Given the description of an element on the screen output the (x, y) to click on. 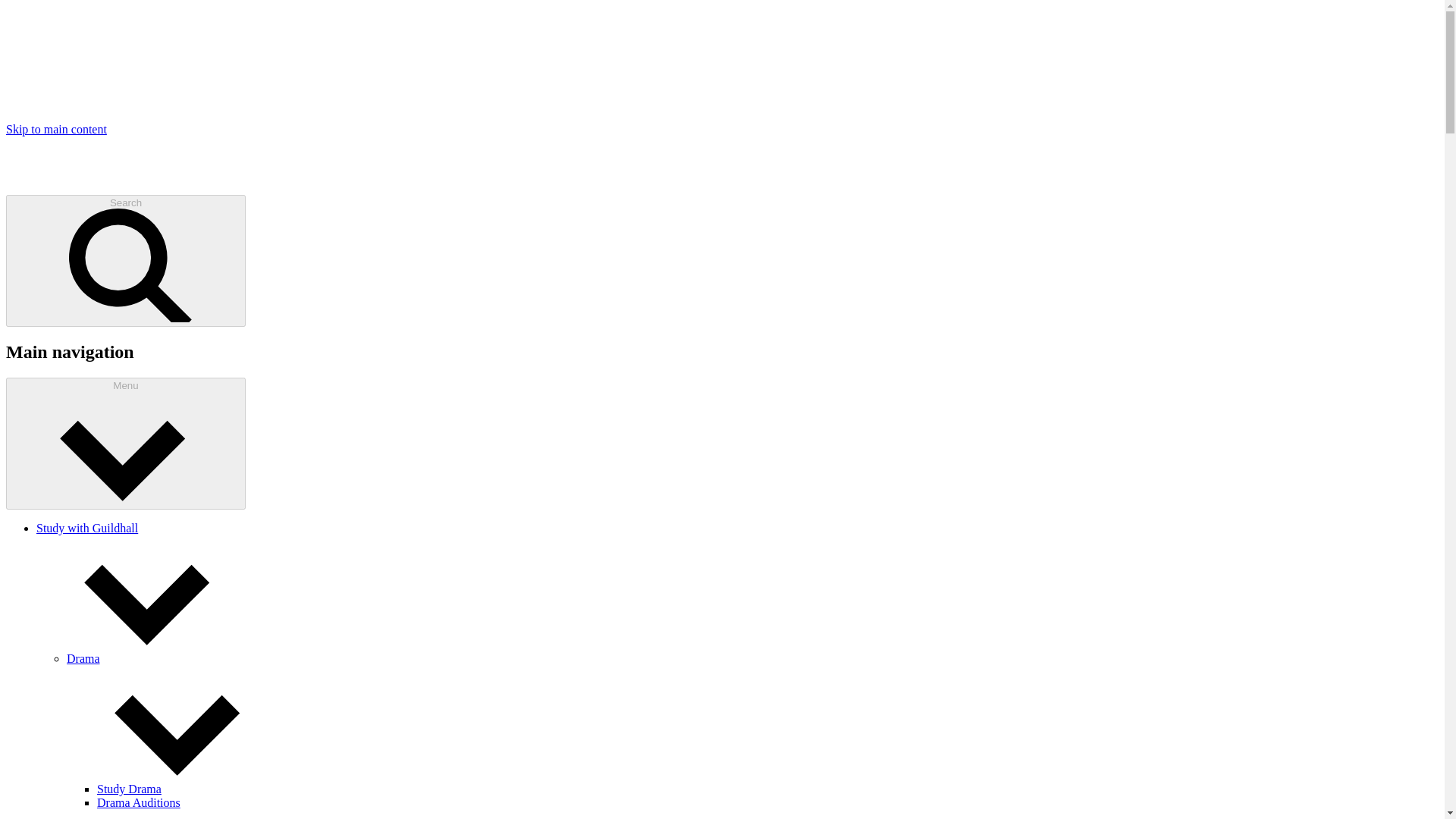
Search (125, 260)
Skip to main content (55, 128)
Menu (125, 443)
Study Drama (129, 788)
